Given the description of an element on the screen output the (x, y) to click on. 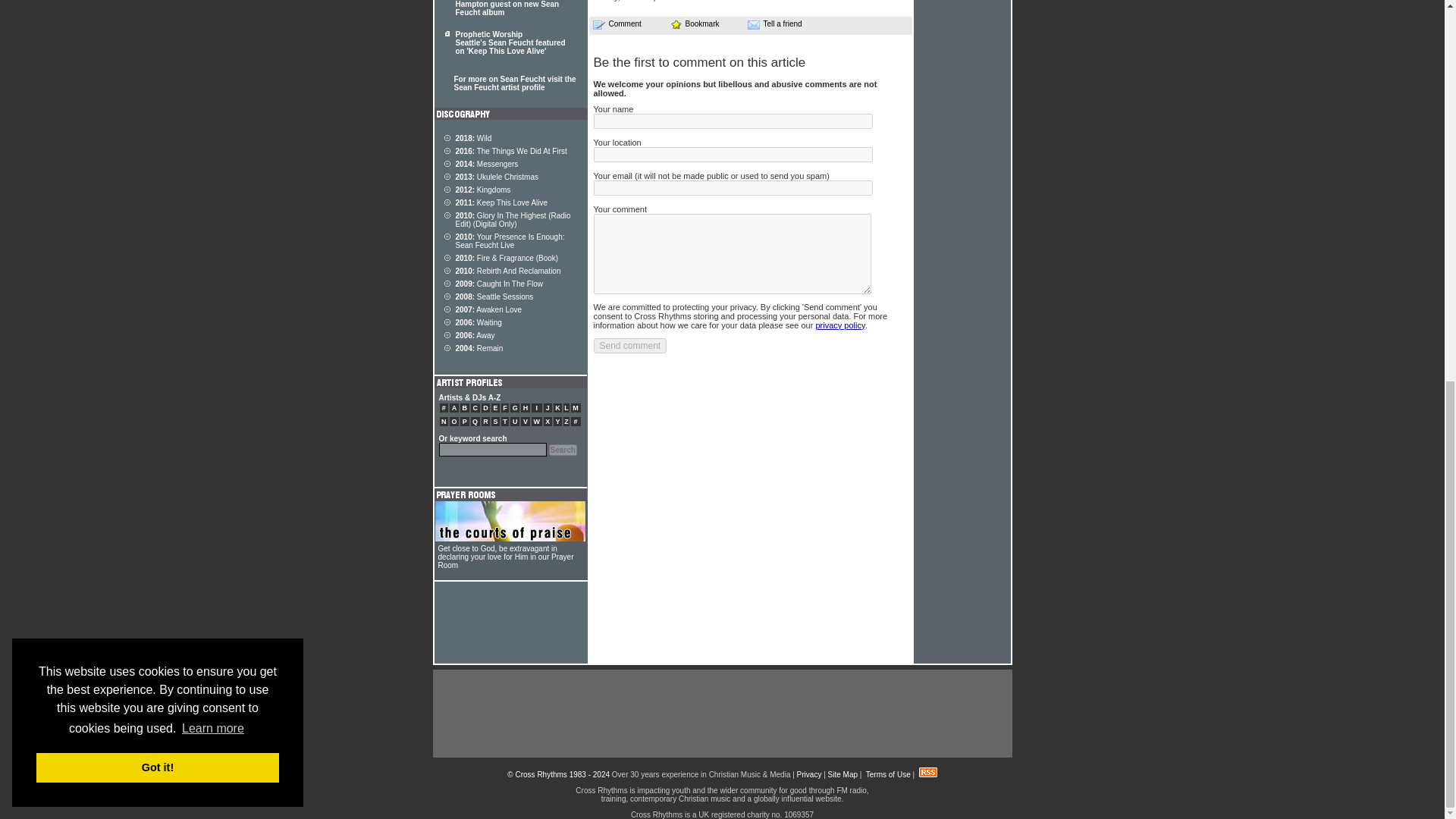
Learn more (212, 16)
Search (562, 449)
Got it! (157, 55)
Send comment (629, 345)
3rd party ad content (721, 713)
